Given the description of an element on the screen output the (x, y) to click on. 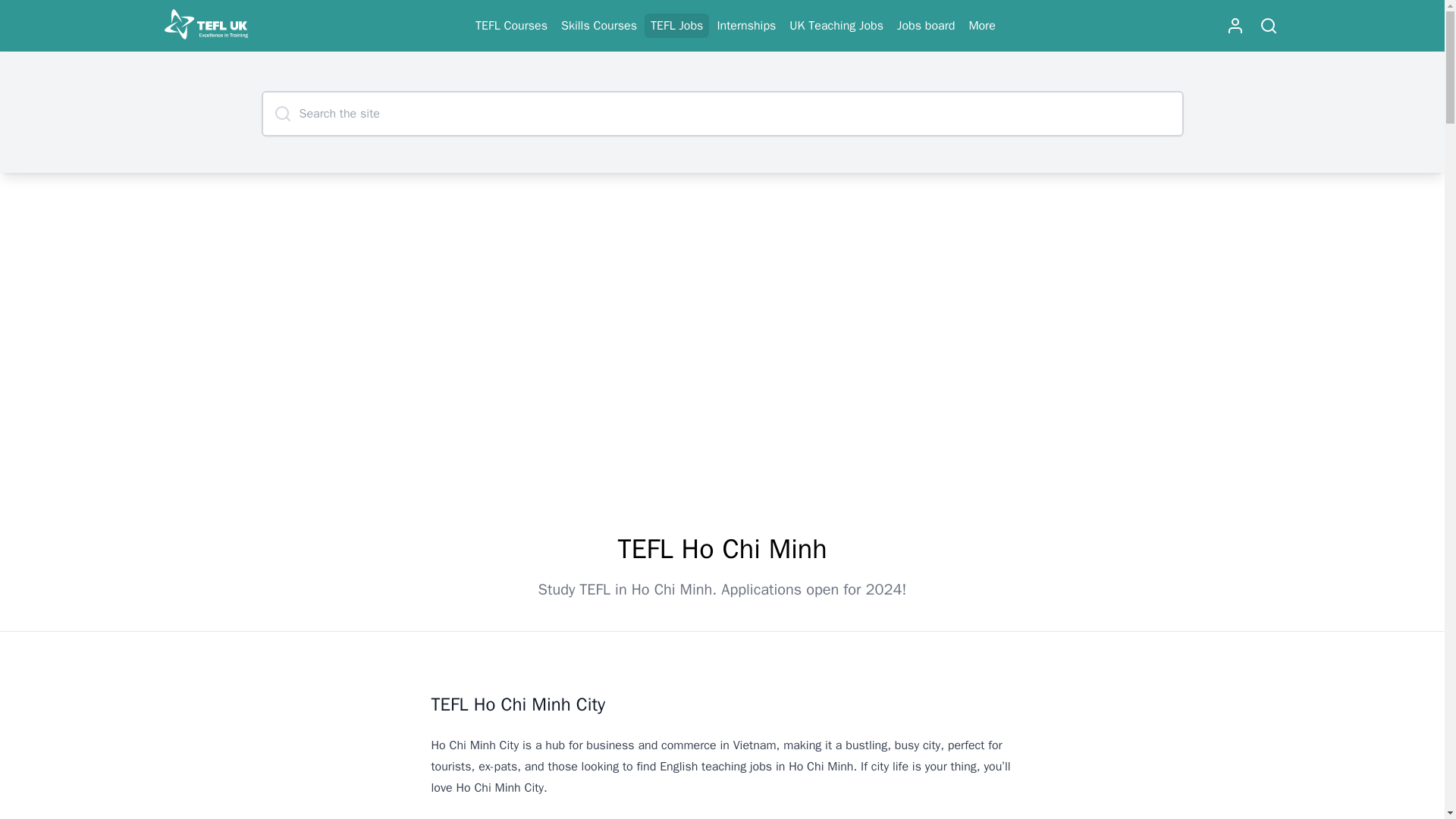
TEFL UK (205, 25)
TEFL Courses (510, 25)
Skills Courses (598, 25)
